Given the description of an element on the screen output the (x, y) to click on. 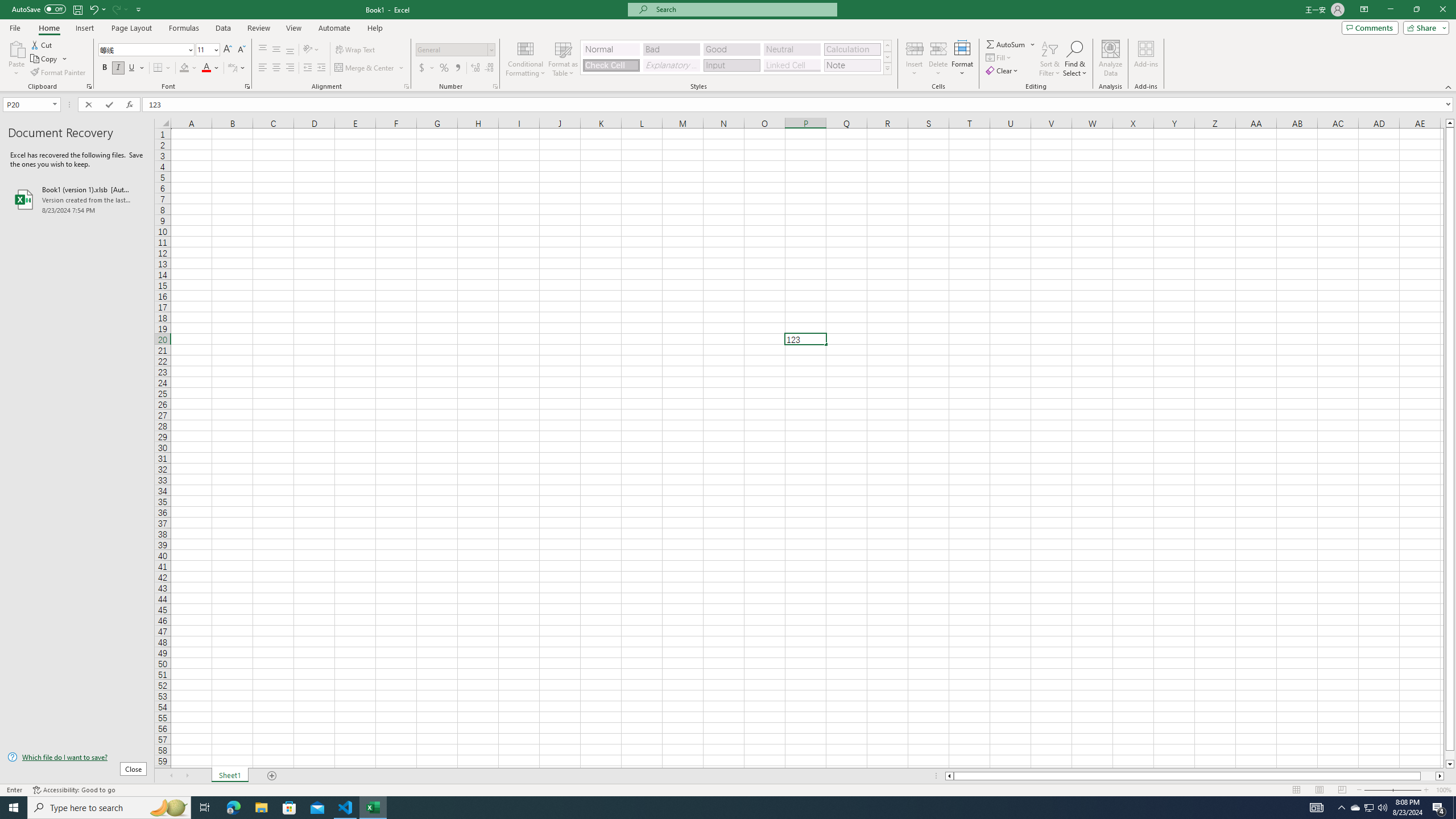
Sheet1 (229, 775)
Page down (1449, 755)
Bold (104, 67)
File Tab (15, 27)
Home (48, 28)
Open (54, 104)
Paste (16, 48)
Page Break Preview (1342, 790)
Close (1442, 9)
Format Cell Font (247, 85)
Minimize (1390, 9)
Normal (1296, 790)
Class: NetUIImage (887, 68)
Insert (914, 58)
